Given the description of an element on the screen output the (x, y) to click on. 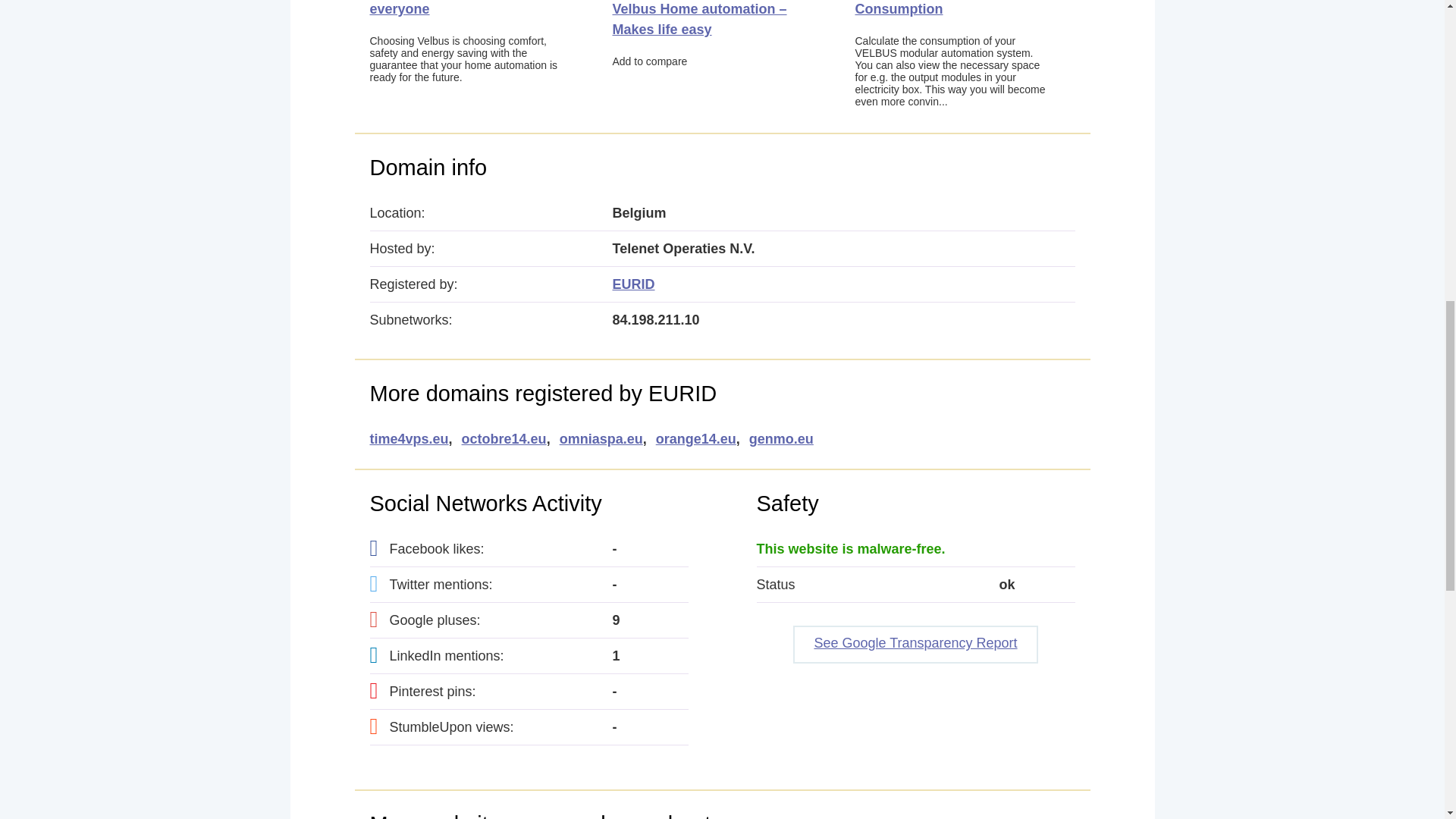
octobre14.eu (504, 439)
EURID (633, 283)
genmo.eu (781, 439)
orange14.eu (696, 439)
omniaspa.eu (601, 439)
Velbus - Professionals - Consumption (932, 8)
See Google Transparency Report (914, 644)
time4vps.eu (408, 439)
Velbus: Home Automation for everyone (464, 8)
